Given the description of an element on the screen output the (x, y) to click on. 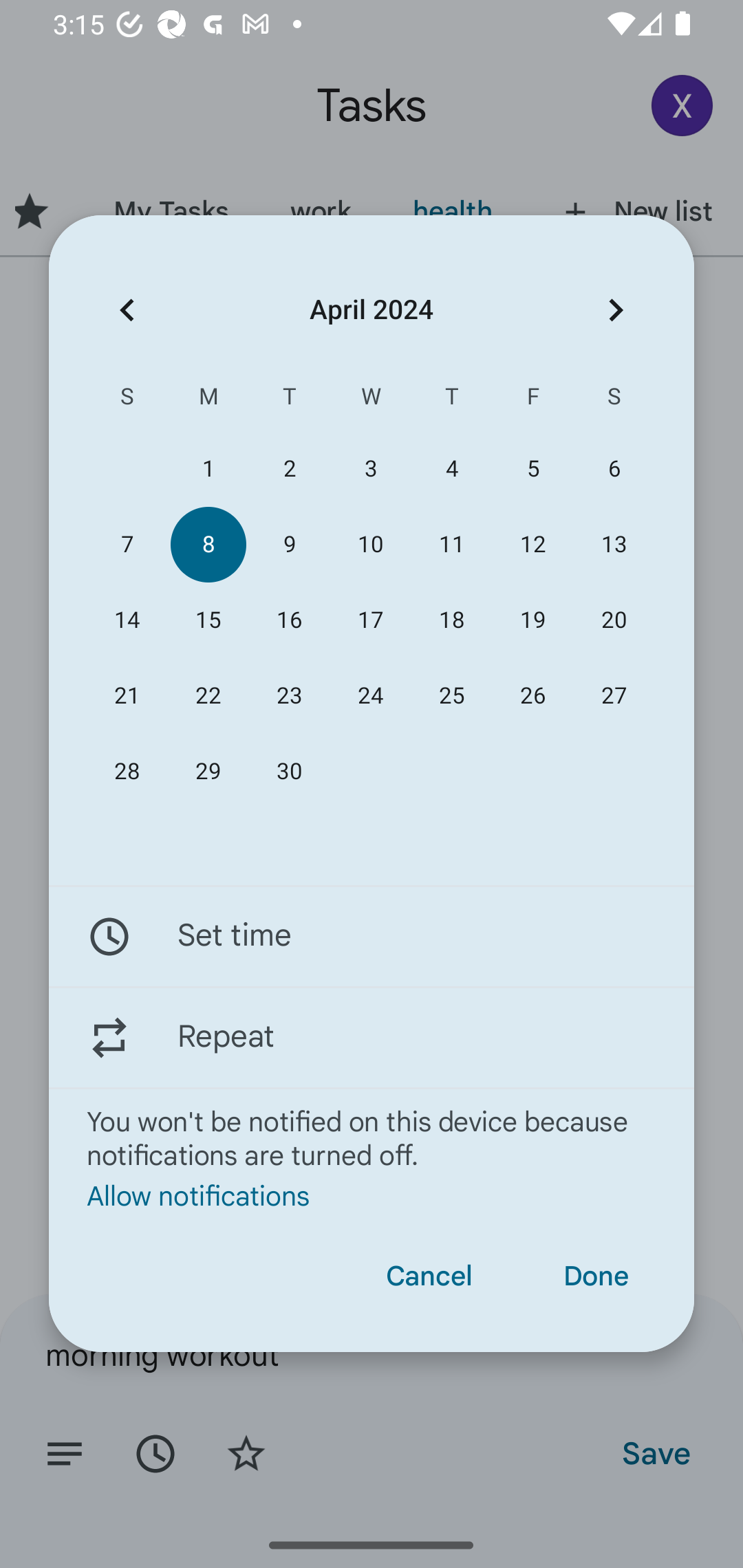
Previous month (126, 309)
Next month (615, 309)
1 01 April 2024 (207, 468)
2 02 April 2024 (288, 468)
3 03 April 2024 (370, 468)
4 04 April 2024 (451, 468)
5 05 April 2024 (532, 468)
6 06 April 2024 (613, 468)
7 07 April 2024 (126, 543)
8 08 April 2024 (207, 543)
9 09 April 2024 (288, 543)
10 10 April 2024 (370, 543)
11 11 April 2024 (451, 543)
12 12 April 2024 (532, 543)
13 13 April 2024 (613, 543)
14 14 April 2024 (126, 619)
15 15 April 2024 (207, 619)
16 16 April 2024 (288, 619)
17 17 April 2024 (370, 619)
18 18 April 2024 (451, 619)
19 19 April 2024 (532, 619)
20 20 April 2024 (613, 619)
21 21 April 2024 (126, 695)
22 22 April 2024 (207, 695)
23 23 April 2024 (288, 695)
24 24 April 2024 (370, 695)
25 25 April 2024 (451, 695)
26 26 April 2024 (532, 695)
27 27 April 2024 (613, 695)
28 28 April 2024 (126, 771)
29 29 April 2024 (207, 771)
30 30 April 2024 (288, 771)
Set time (371, 936)
Repeat (371, 1036)
Allow notifications (371, 1195)
Cancel (429, 1275)
Done (595, 1275)
